Given the description of an element on the screen output the (x, y) to click on. 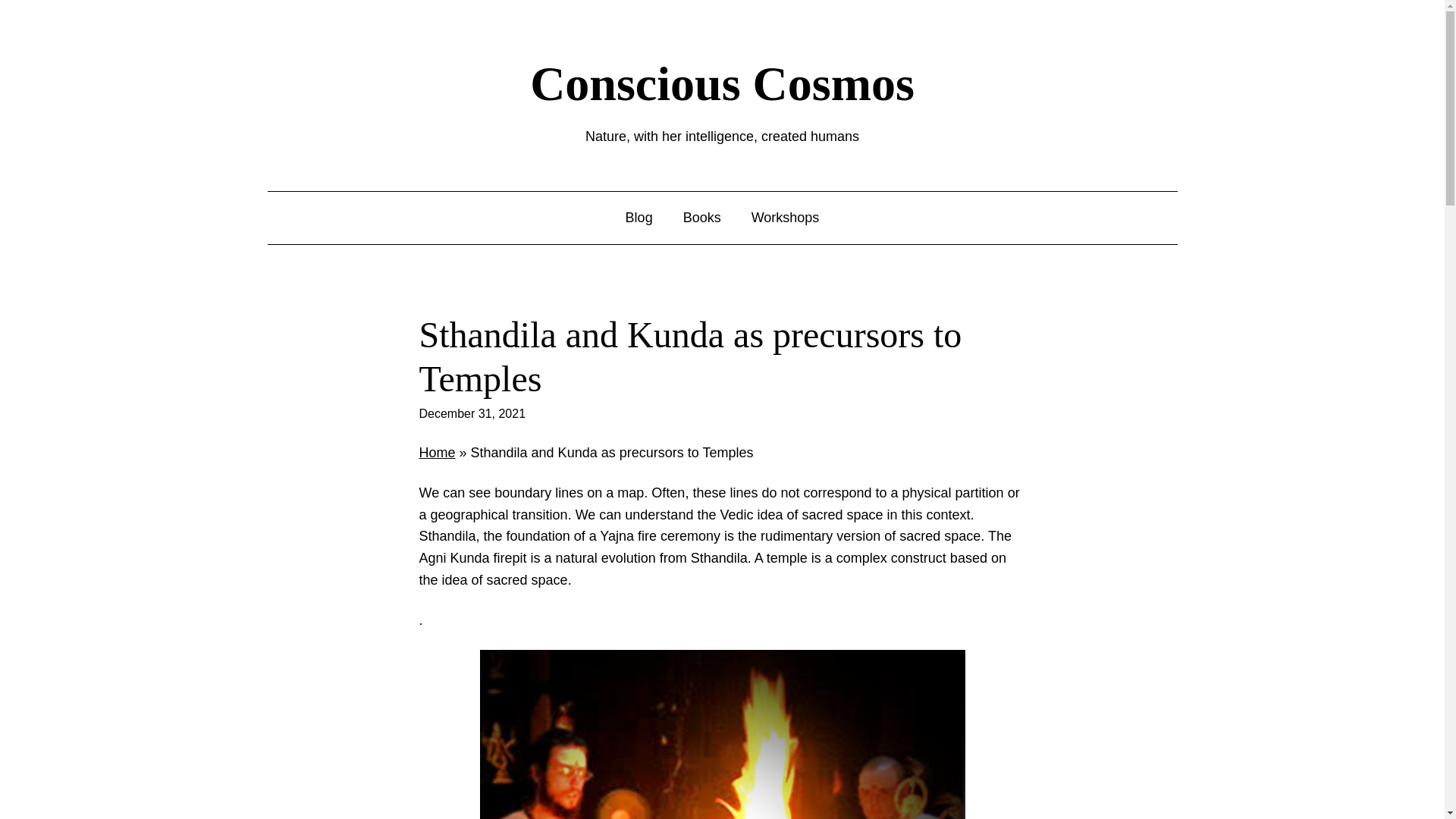
Blog (639, 218)
Conscious Cosmos (721, 83)
Home (436, 452)
Workshops (785, 218)
Books (701, 218)
